Given the description of an element on the screen output the (x, y) to click on. 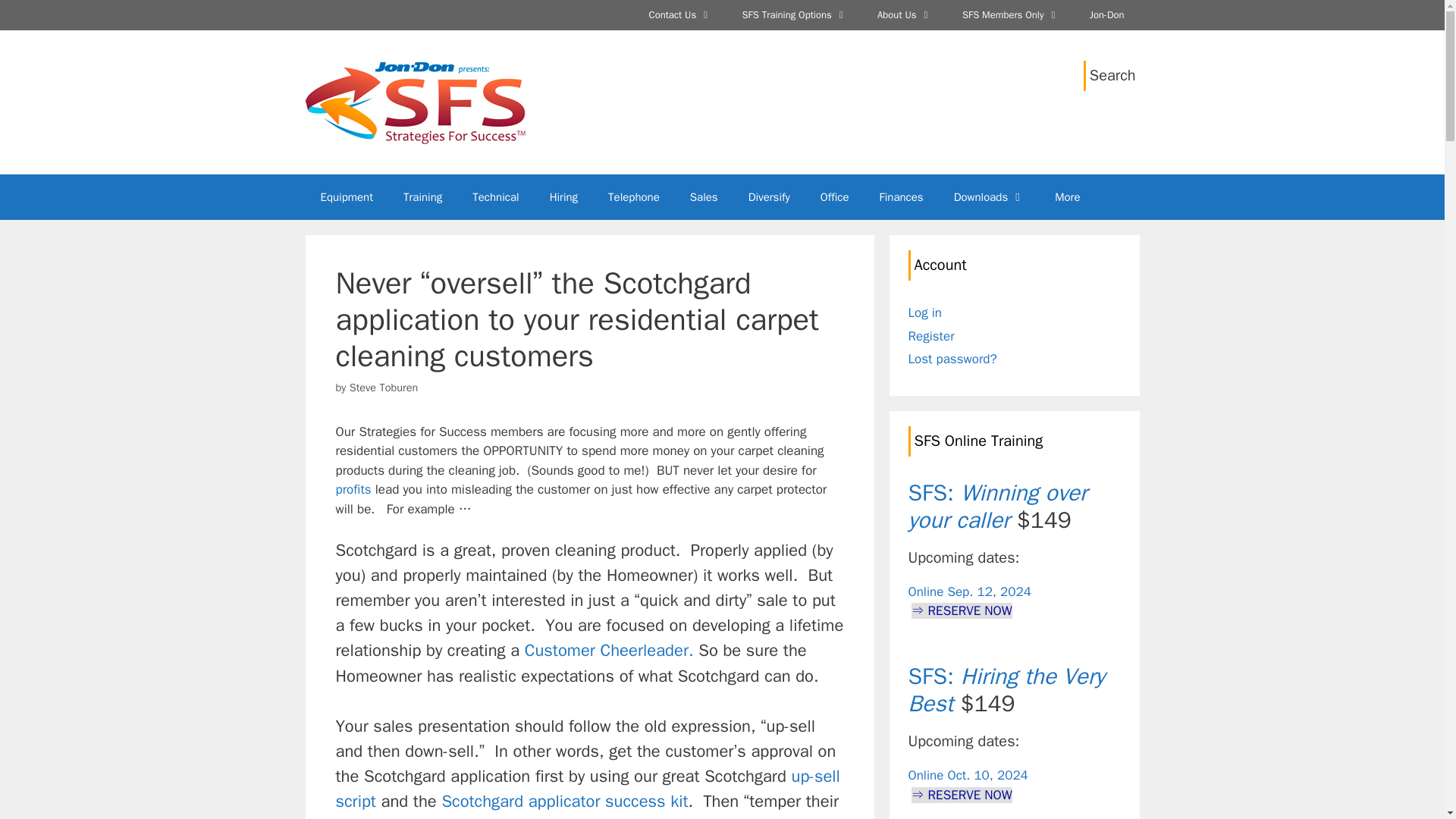
Contact Us (679, 15)
Training (422, 197)
View all posts by Steve Toburen (384, 386)
SFS Training Options (794, 15)
Sales (704, 197)
Technical (495, 197)
Telephone (633, 197)
About Us (904, 15)
Hiring (563, 197)
Jon-Don (1107, 15)
SFS Members Only (1010, 15)
Equipment (346, 197)
